Given the description of an element on the screen output the (x, y) to click on. 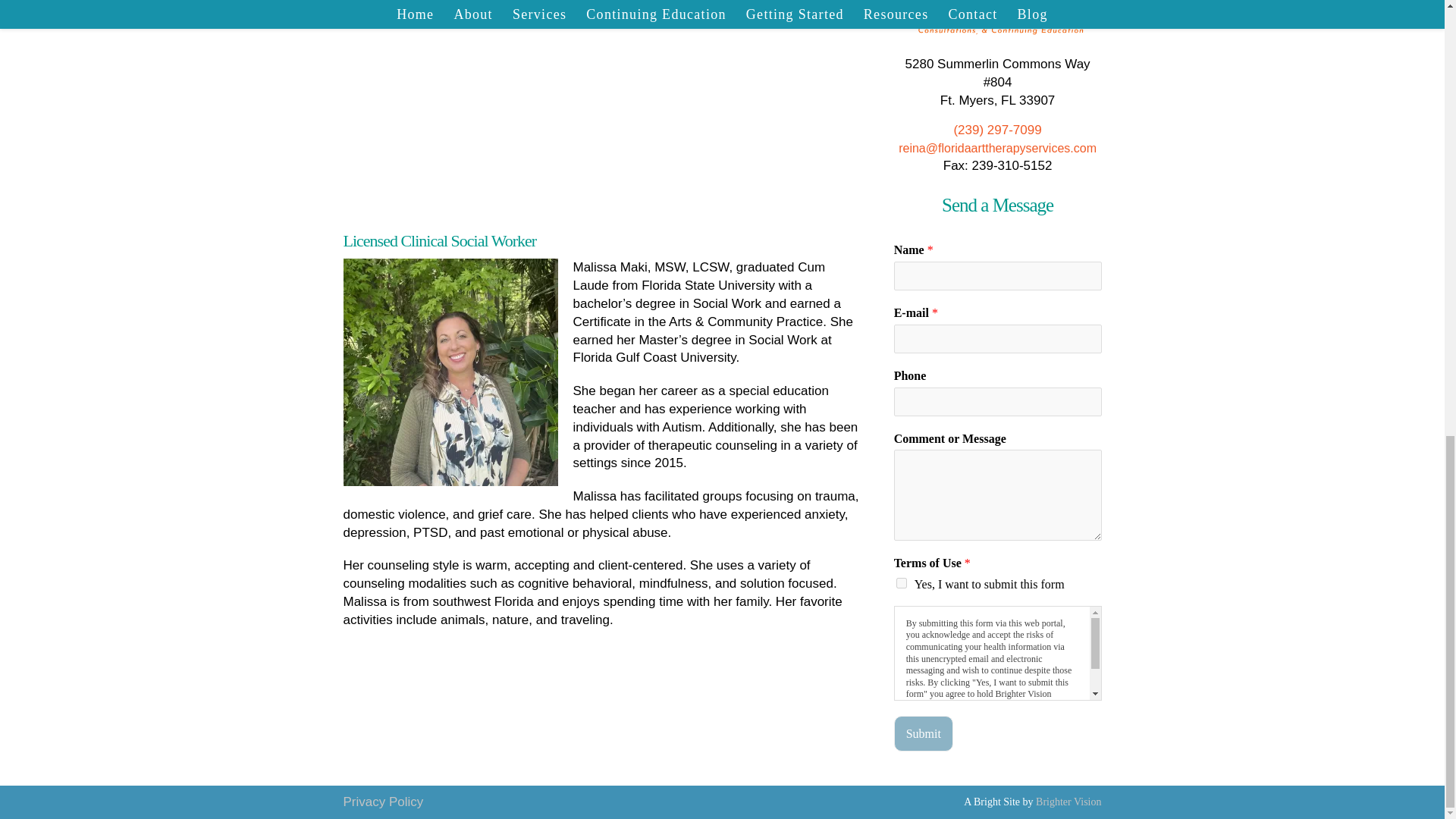
YouTube video player (456, 105)
Yes, I want to submit this form (901, 583)
YouTube video player (687, 105)
